Given the description of an element on the screen output the (x, y) to click on. 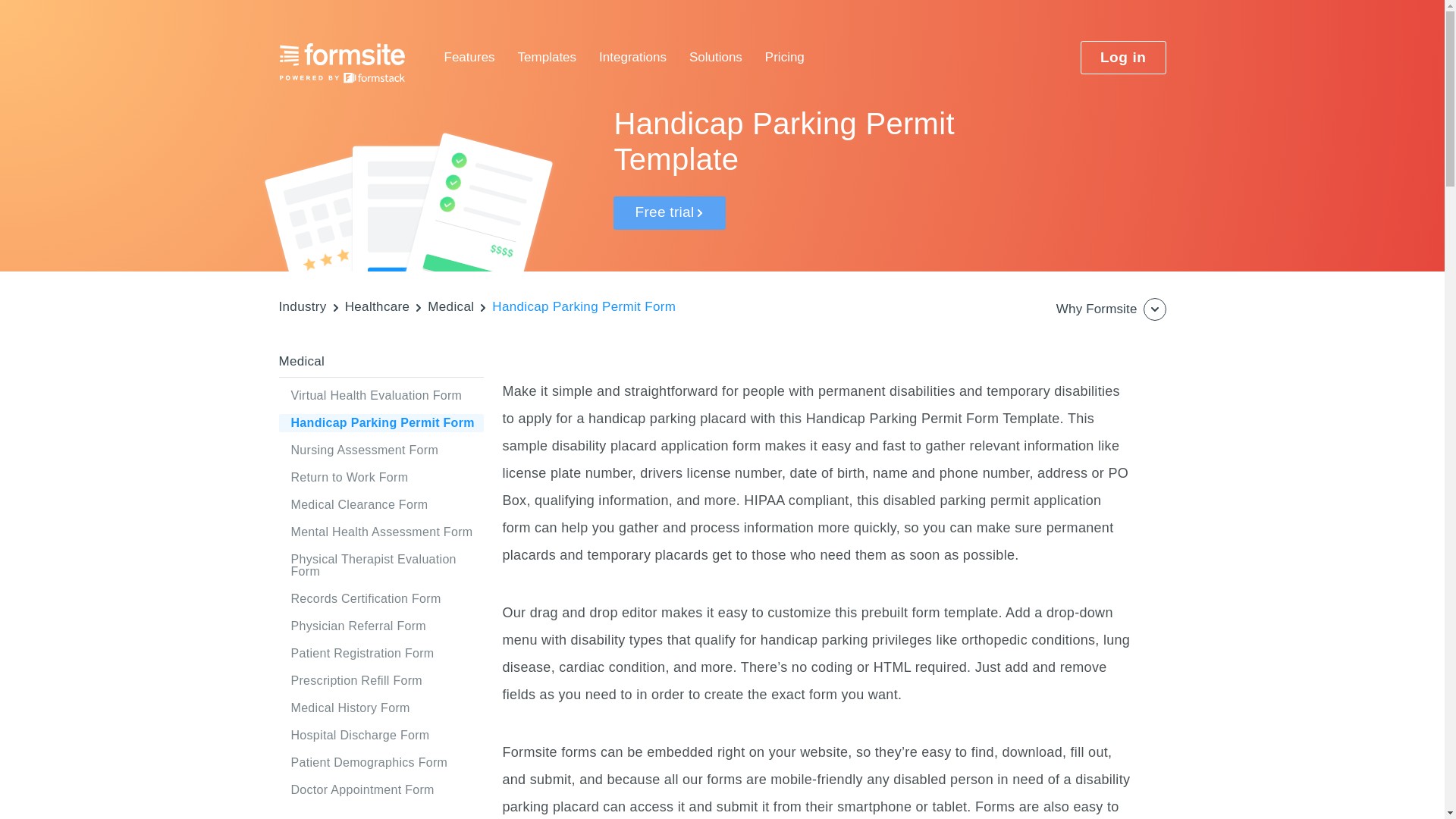
Templates (547, 57)
Why Formsite (1111, 309)
Healthcare (377, 306)
Solutions (715, 57)
Medical (451, 306)
Log in (1123, 57)
Go to the Home Page (342, 62)
Industry (302, 306)
Solutions (715, 57)
Pricing (785, 57)
Free trial (668, 213)
Templates (547, 57)
Features (469, 57)
Pricing (785, 57)
Log in (1123, 57)
